Given the description of an element on the screen output the (x, y) to click on. 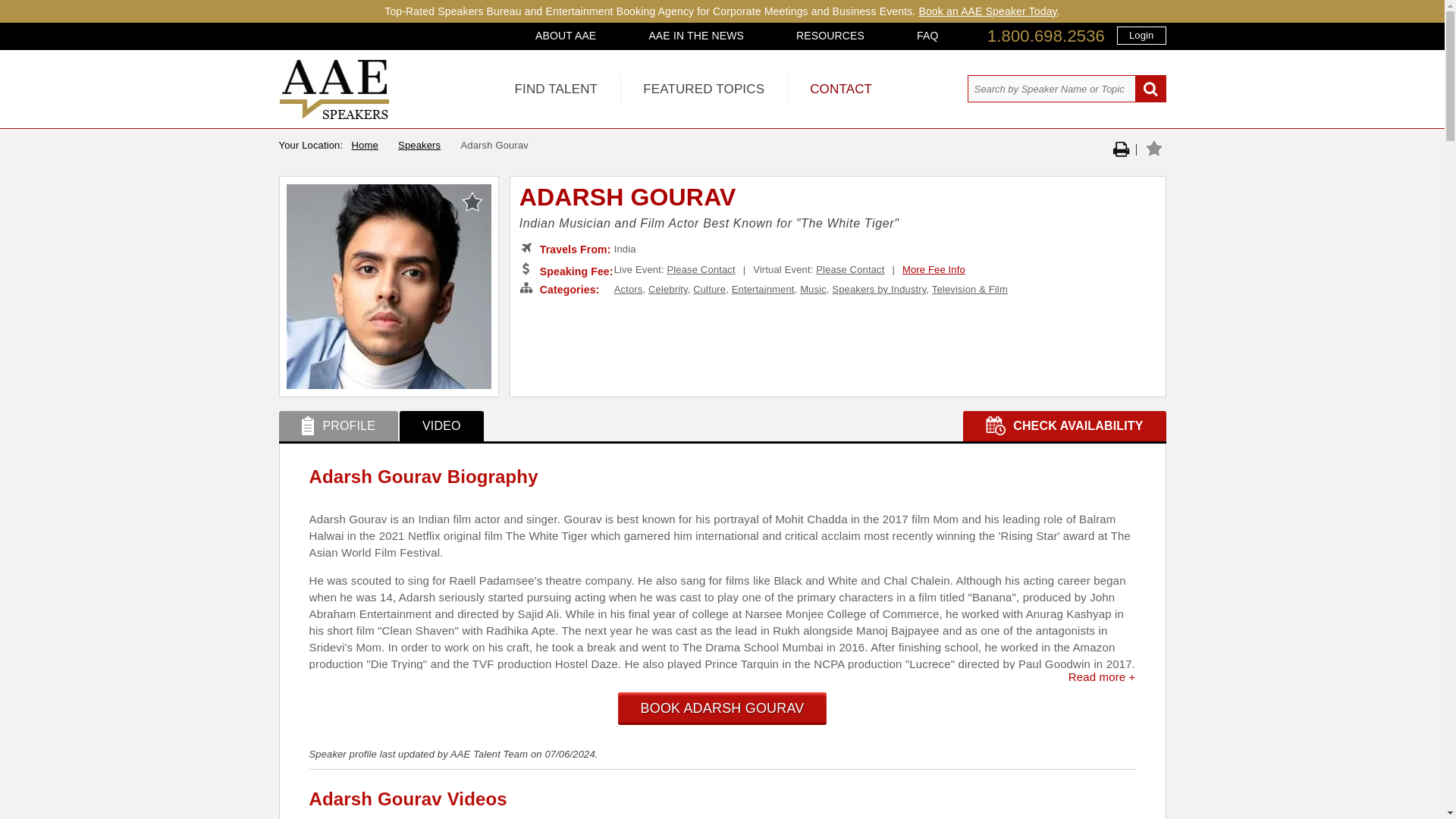
ABOUT AAE (565, 34)
RESOURCES (829, 34)
1.800.698.2536 (1046, 35)
AAE IN THE NEWS (695, 34)
Login (1141, 35)
FAQ (927, 34)
All American Speakers Bureau and Celebrity Booking Agency (334, 115)
Search (1150, 89)
Book an AAE Speaker Today (987, 10)
